Given the description of an element on the screen output the (x, y) to click on. 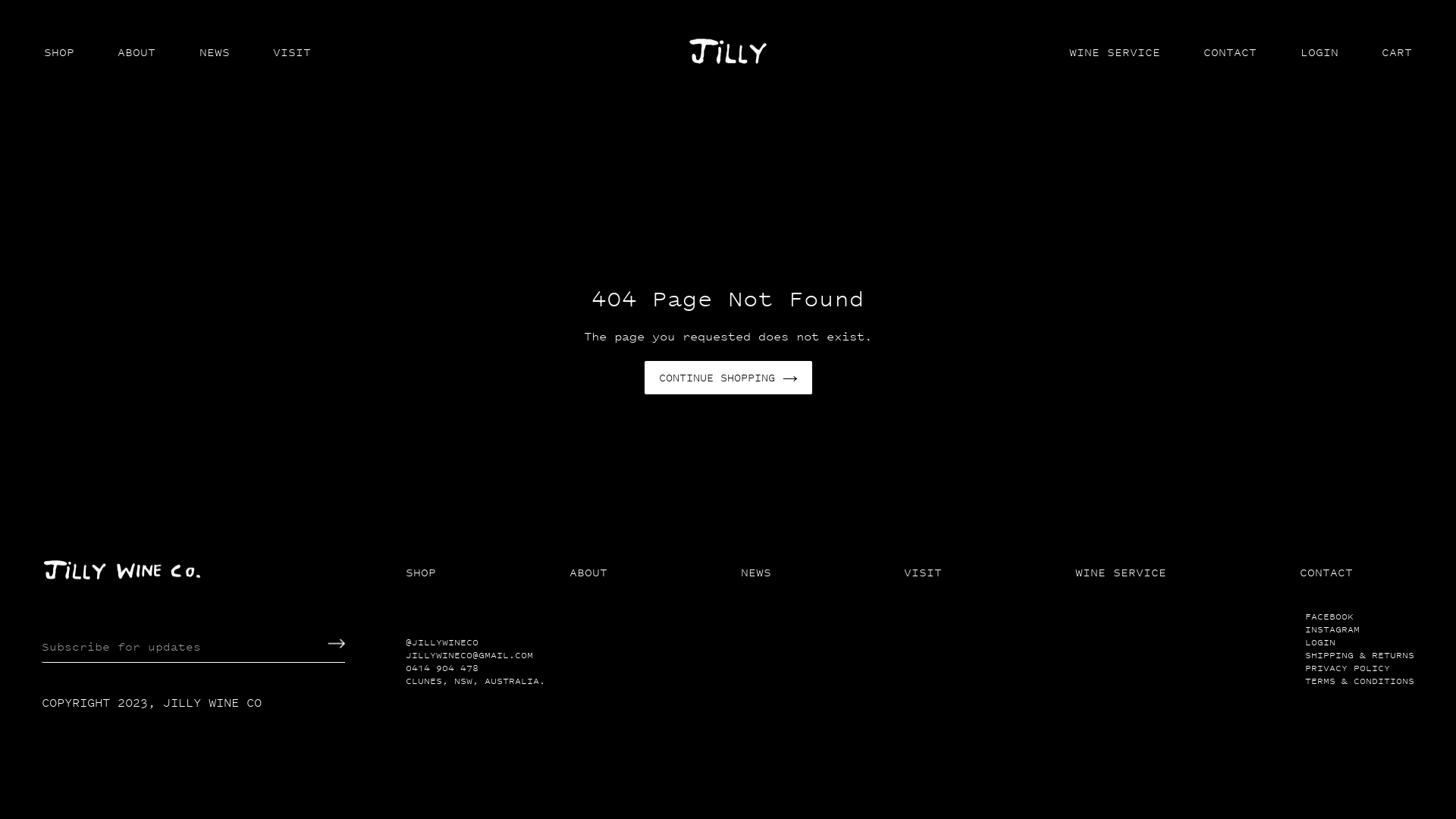
WINE SERVICE Element type: text (1120, 572)
CONTACT Element type: text (1229, 52)
WINE SERVICE Element type: text (1114, 52)
SHOP Element type: text (420, 572)
ABOUT Element type: text (136, 52)
ABOUT Element type: text (588, 572)
CONTINUE SHOPPING Element type: text (728, 377)
TERMS & CONDITIONS Element type: text (1359, 681)
LOGIN Element type: text (1320, 642)
LOGIN Element type: text (1319, 52)
JILLY WINE CO Element type: text (212, 702)
VISIT Element type: text (922, 572)
FACEBOOK Element type: text (1329, 616)
INSTAGRAM Element type: text (1332, 629)
NEWS Element type: text (755, 572)
SHOP Element type: text (58, 52)
CONTACT Element type: text (1325, 572)
SHIPPING & RETURNS Element type: text (1359, 655)
VISIT Element type: text (291, 52)
NEWS Element type: text (214, 52)
CART Element type: text (1396, 52)
PRIVACY POLICY Element type: text (1347, 668)
